Given the description of an element on the screen output the (x, y) to click on. 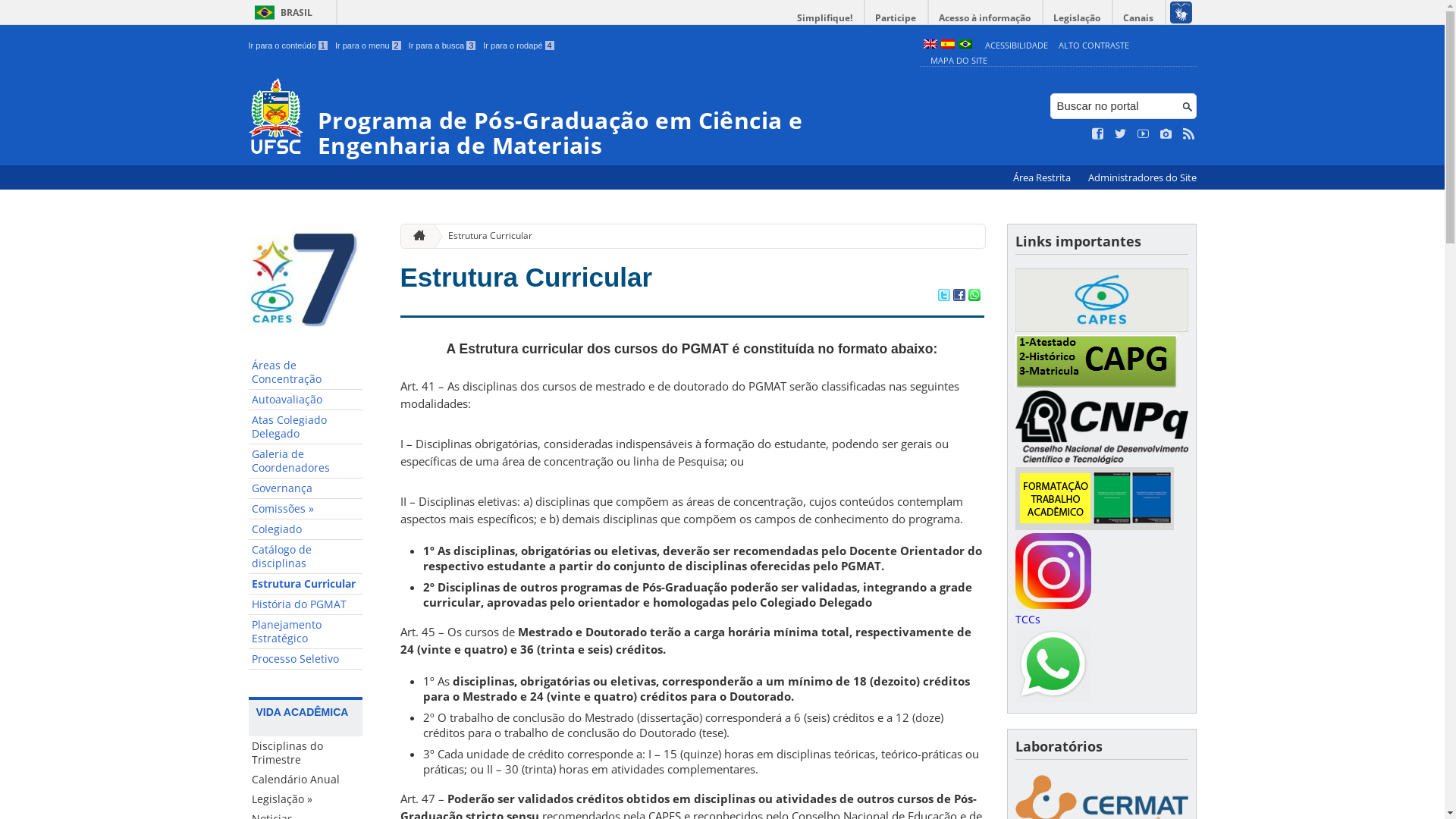
MAPA DO SITE Element type: text (957, 59)
Administradores do Site Element type: text (1141, 177)
Canais Element type: text (1138, 18)
ACESSIBILIDADE Element type: text (1016, 44)
Siga no Twitter Element type: hover (1120, 134)
Atas Colegiado Delegado Element type: text (305, 427)
Participe Element type: text (895, 18)
English (en) Element type: hover (930, 44)
Disciplinas do Trimestre Element type: text (305, 752)
Curta no Facebook Element type: hover (1098, 134)
Estrutura Curricular Element type: text (526, 276)
Compartilhar no Facebook Element type: hover (958, 296)
Estrutura Curricular Element type: text (305, 584)
Simplifique! Element type: text (825, 18)
Ir para o menu 2 Element type: text (368, 45)
BRASIL Element type: text (280, 12)
Compartilhar no Twitter Element type: hover (943, 296)
TCCs Element type: text (1026, 618)
Processo Seletivo Element type: text (305, 659)
Veja no Instagram Element type: hover (1166, 134)
ALTO CONTRASTE Element type: text (1093, 44)
Estrutura Curricular Element type: text (483, 235)
Colegiado Element type: text (305, 529)
Compartilhar no WhatsApp Element type: hover (973, 296)
Galeria de Coordenadores Element type: text (305, 461)
Ir para a busca 3 Element type: text (442, 45)
